Given the description of an element on the screen output the (x, y) to click on. 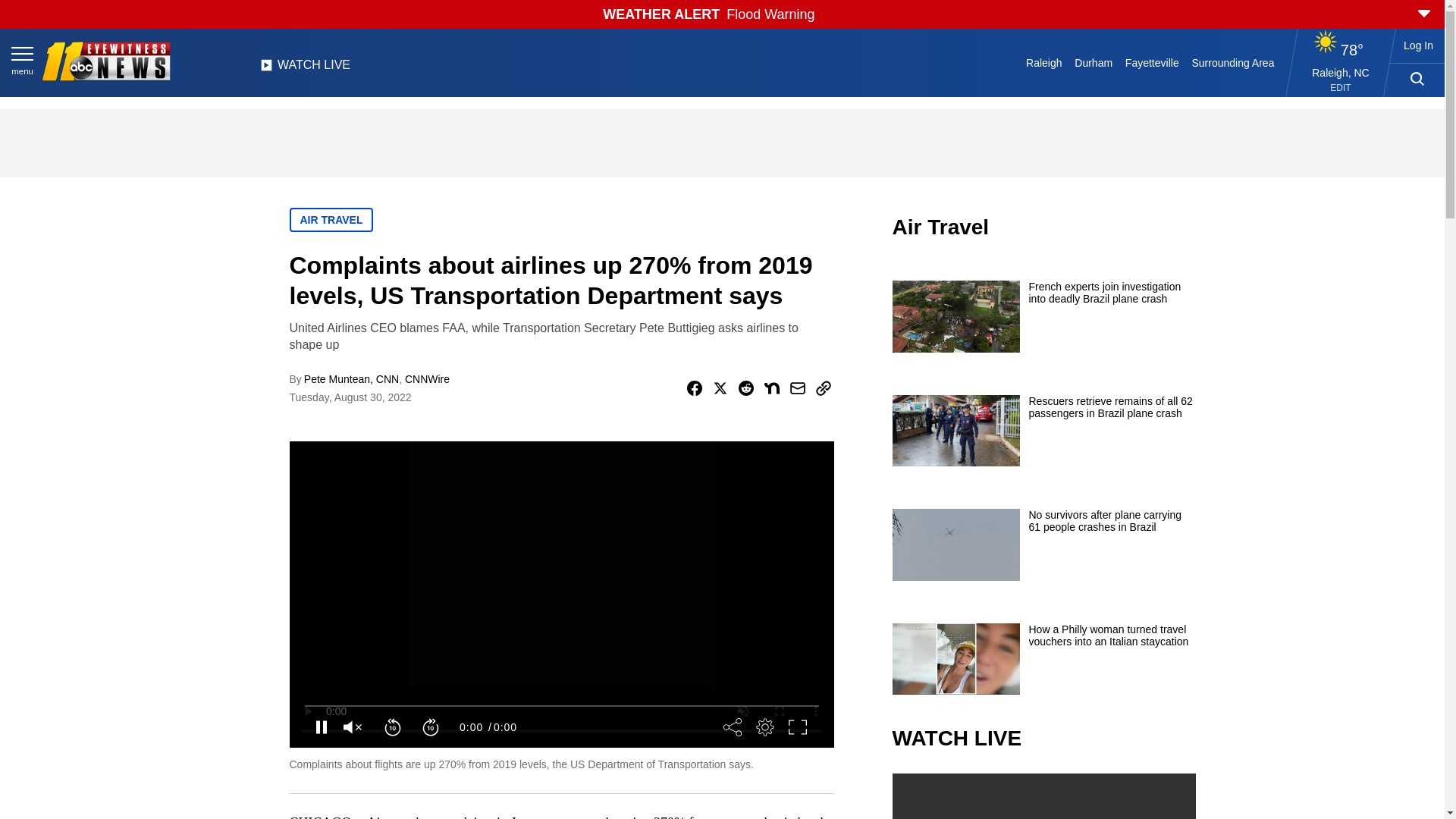
Raleigh, NC (1340, 72)
Surrounding Area (1233, 62)
video.title (1043, 796)
EDIT (1340, 87)
Raleigh (1044, 62)
Fayetteville (1151, 62)
Durham (1093, 62)
WATCH LIVE (305, 69)
